Given the description of an element on the screen output the (x, y) to click on. 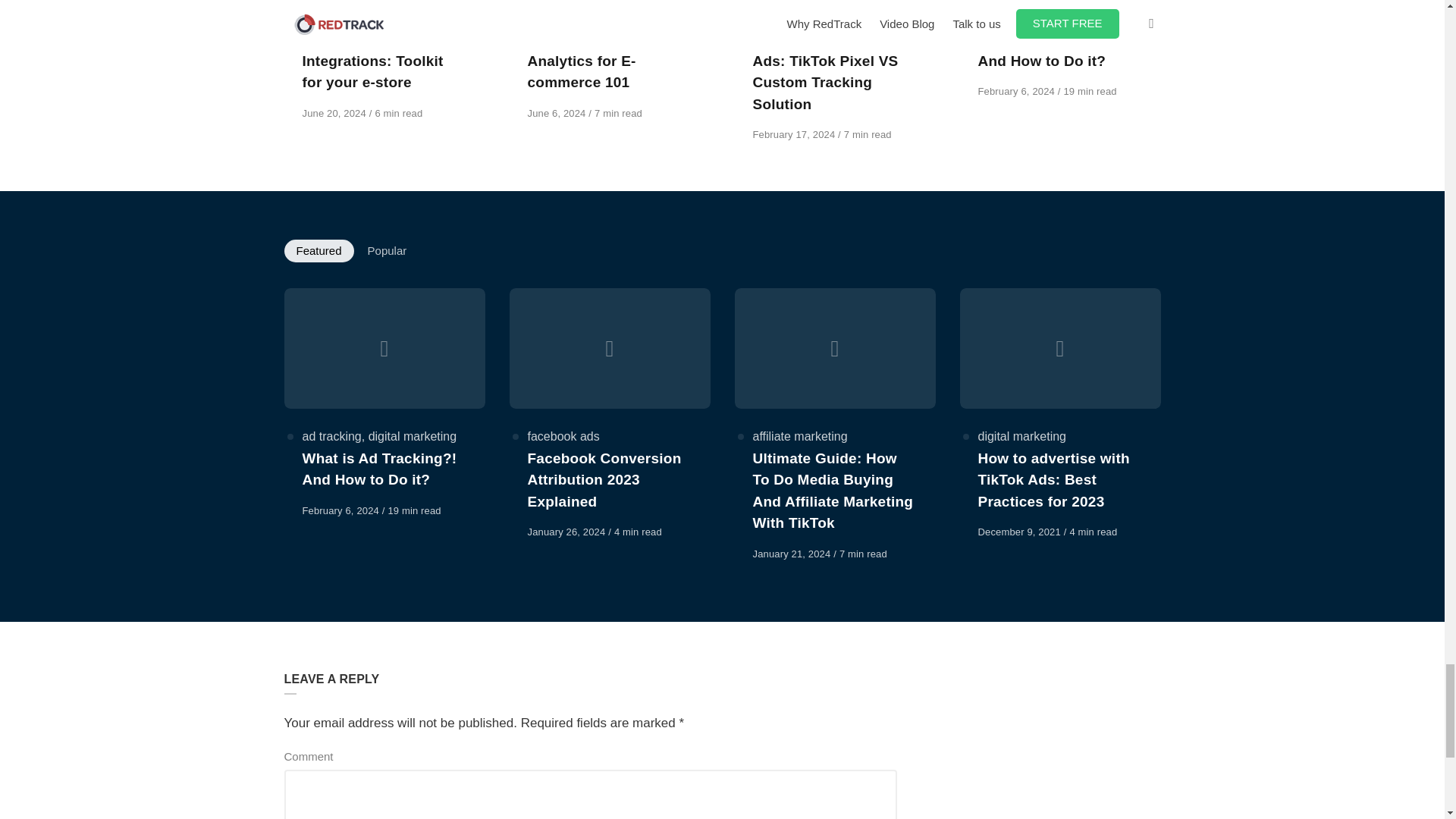
June 20, 2024 (334, 112)
February 6, 2024 (1018, 91)
December 9, 2021 (1021, 531)
June 6, 2024 (558, 112)
June 6, 2024 (558, 112)
June 20, 2024 (334, 112)
February 6, 2024 (341, 510)
eCommerce (334, 17)
eCommerce (655, 17)
digital marketing (571, 17)
